Given the description of an element on the screen output the (x, y) to click on. 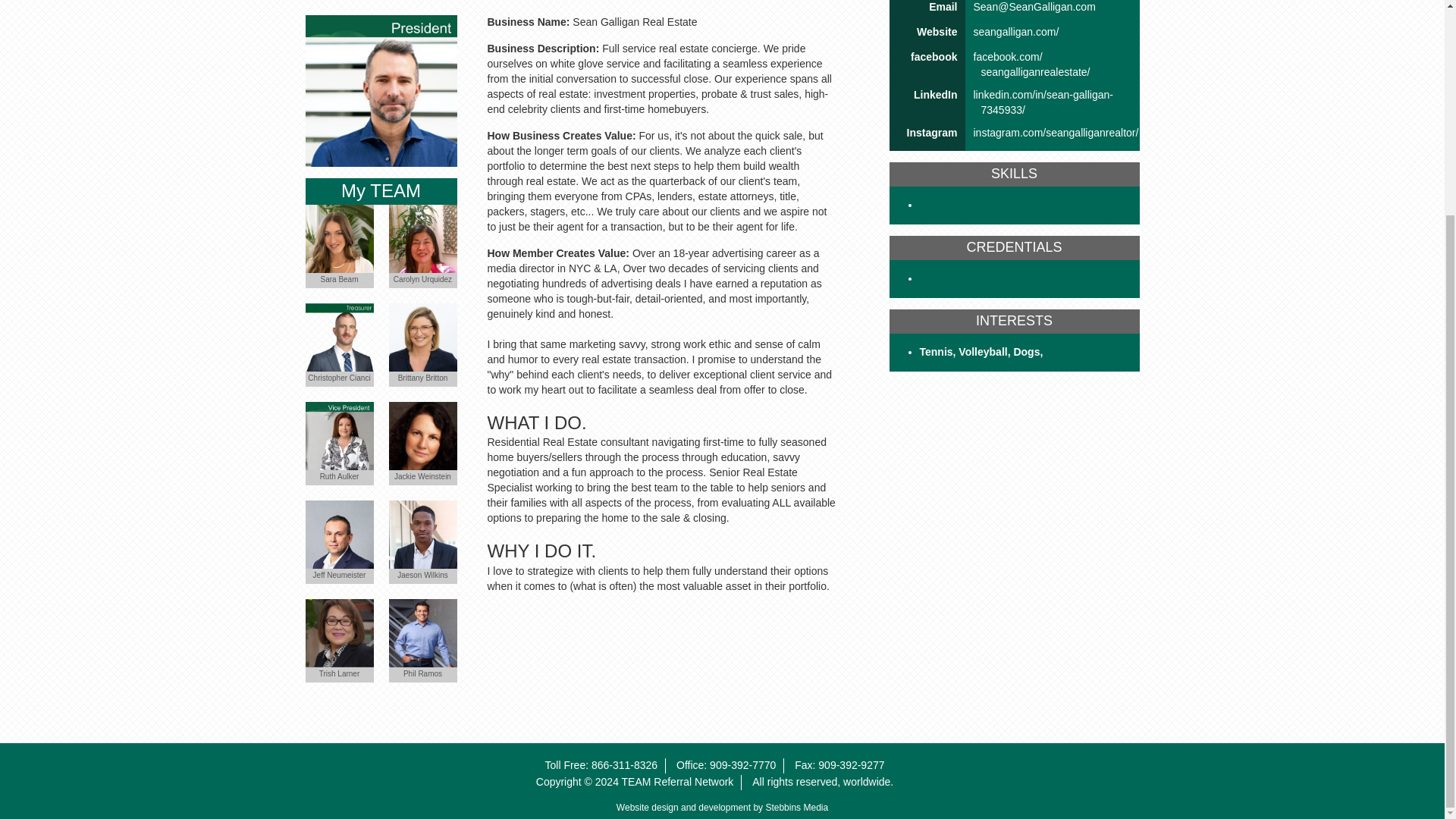
Brittany Britton (422, 337)
Sara Beam (338, 238)
Jackie Weinstein (422, 436)
Phil Ramos (422, 632)
Ruth Aulker (338, 436)
Jeff Neumeister (338, 534)
Christopher Cianci (338, 337)
Sean Galligan - Sean Galligan Real Estate (380, 91)
Carolyn Urquidez (422, 238)
Trish Larner (338, 632)
